Given the description of an element on the screen output the (x, y) to click on. 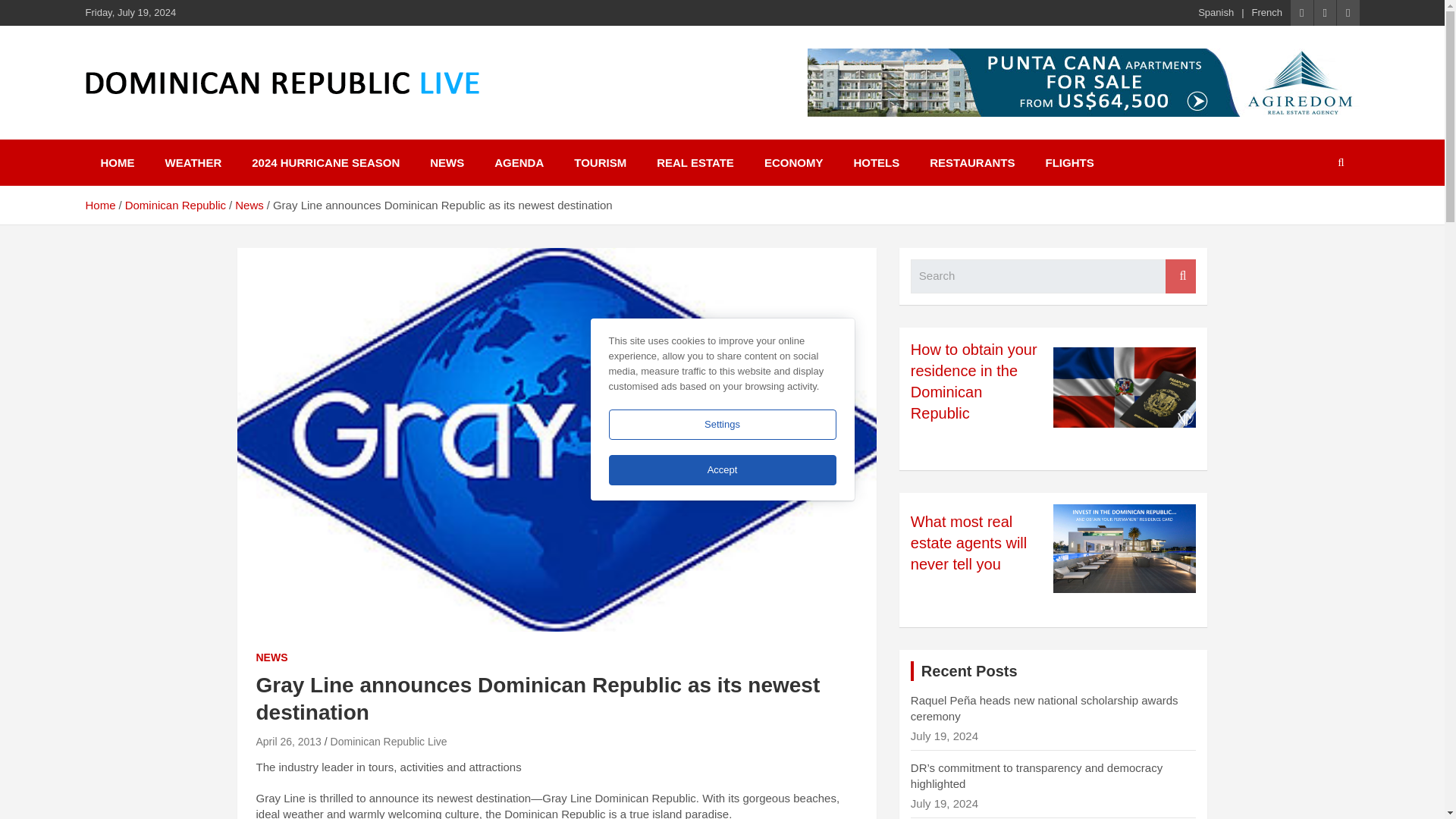
Search (1180, 276)
HOME (116, 162)
Dominican Republic Live (388, 741)
REAL ESTATE (695, 162)
RESTAURANTS (971, 162)
FLIGHTS (1068, 162)
French (1267, 12)
AGENDA (519, 162)
TOURISM (600, 162)
Dominican Republic (175, 205)
HOTELS (876, 162)
2024 HURRICANE SEASON (324, 162)
NEWS (272, 657)
News (248, 205)
